Given the description of an element on the screen output the (x, y) to click on. 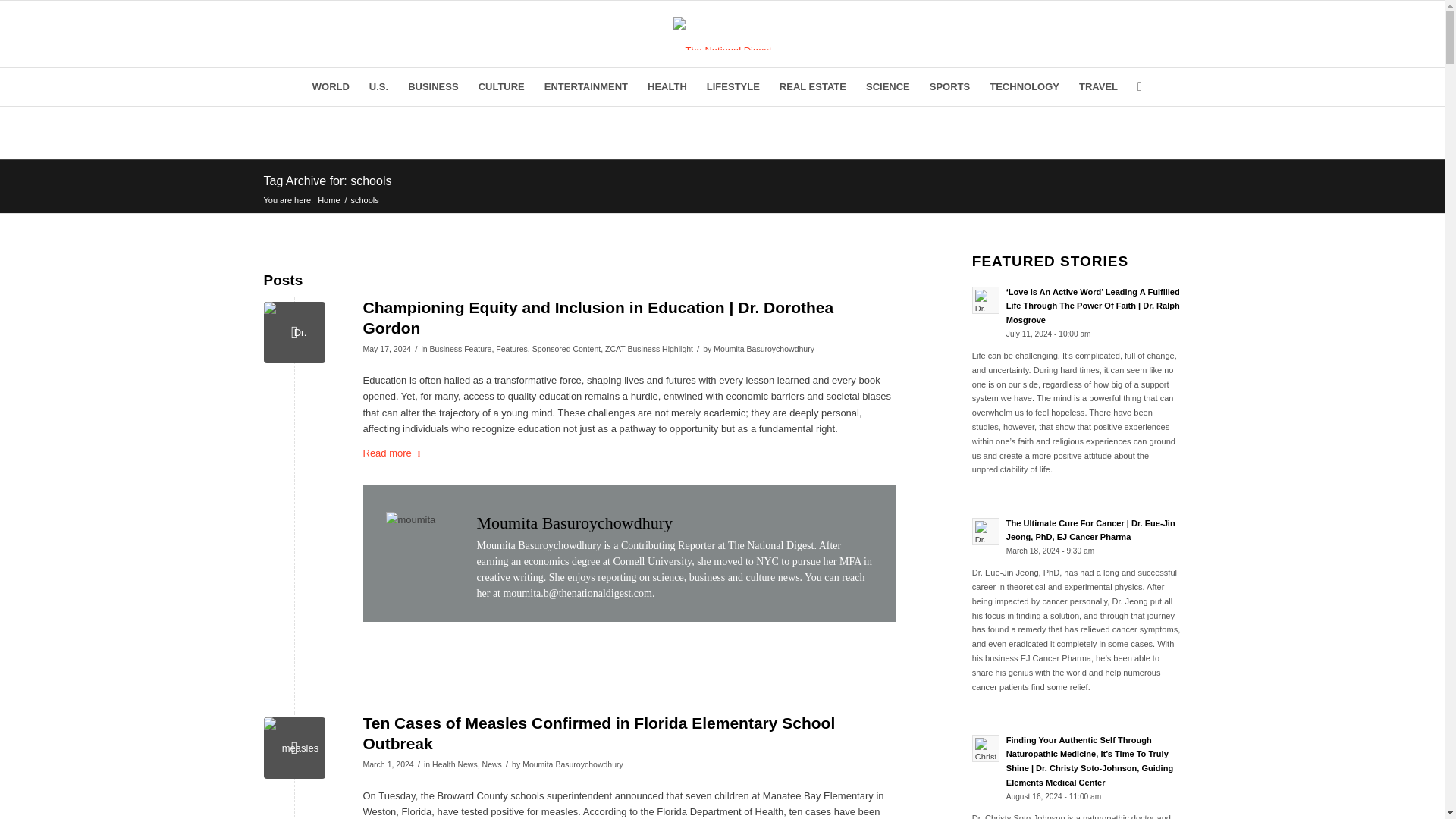
Tag Archive for: schools (327, 180)
The National Digest (328, 199)
Health News (454, 764)
TECHNOLOGY (1023, 86)
ENTERTAINMENT (585, 86)
ZCAT Business Highlight (649, 347)
Features (511, 347)
News (491, 764)
